Given the description of an element on the screen output the (x, y) to click on. 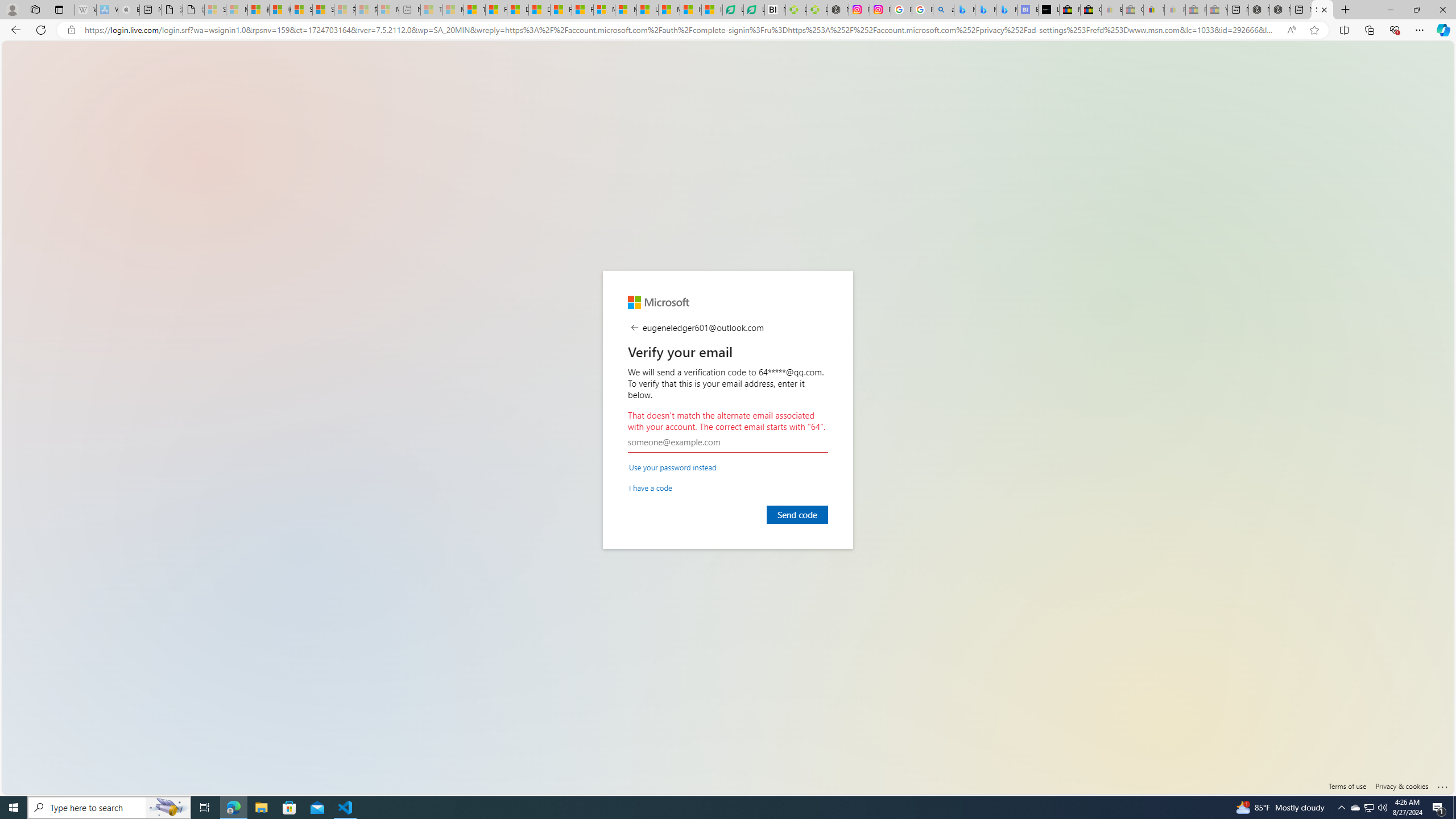
alabama high school quarterback dies - Search (943, 9)
Microsoft Bing Travel - Flights from Hong Kong to Bangkok (964, 9)
Threats and offensive language policy | eBay (1153, 9)
Press Room - eBay Inc. - Sleeping (1195, 9)
Top Stories - MSN - Sleeping (431, 9)
